Given the description of an element on the screen output the (x, y) to click on. 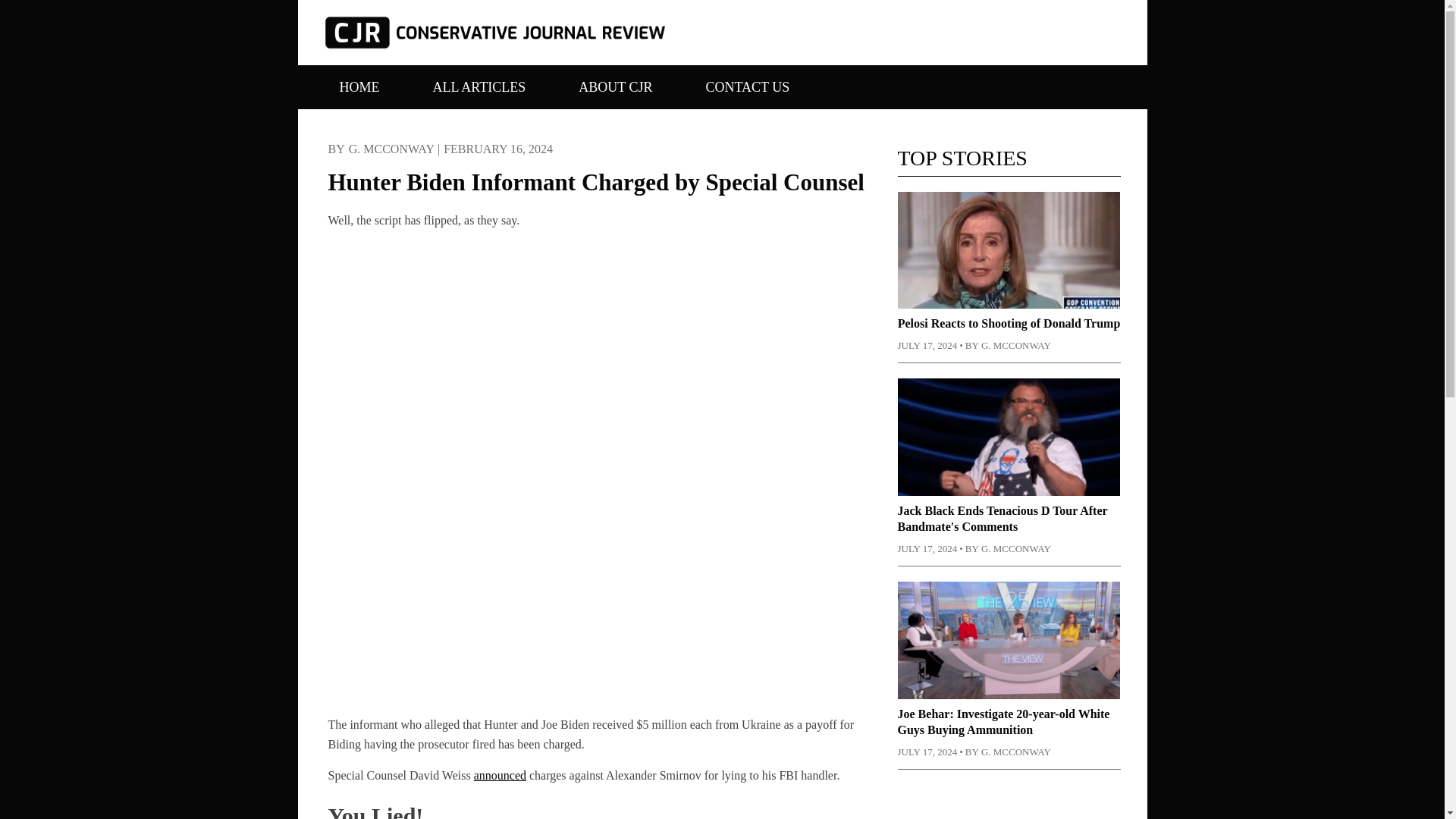
Pelosi Reacts to Shooting of Donald Trump (1009, 323)
G. MCCONWAY (391, 148)
HOME (358, 90)
Jack Black Ends Tenacious D Tour After Bandmate's Comments (1003, 518)
announced (499, 775)
CONTACT US (747, 90)
ABOUT CJR (615, 90)
ALL ARTICLES (479, 90)
